Given the description of an element on the screen output the (x, y) to click on. 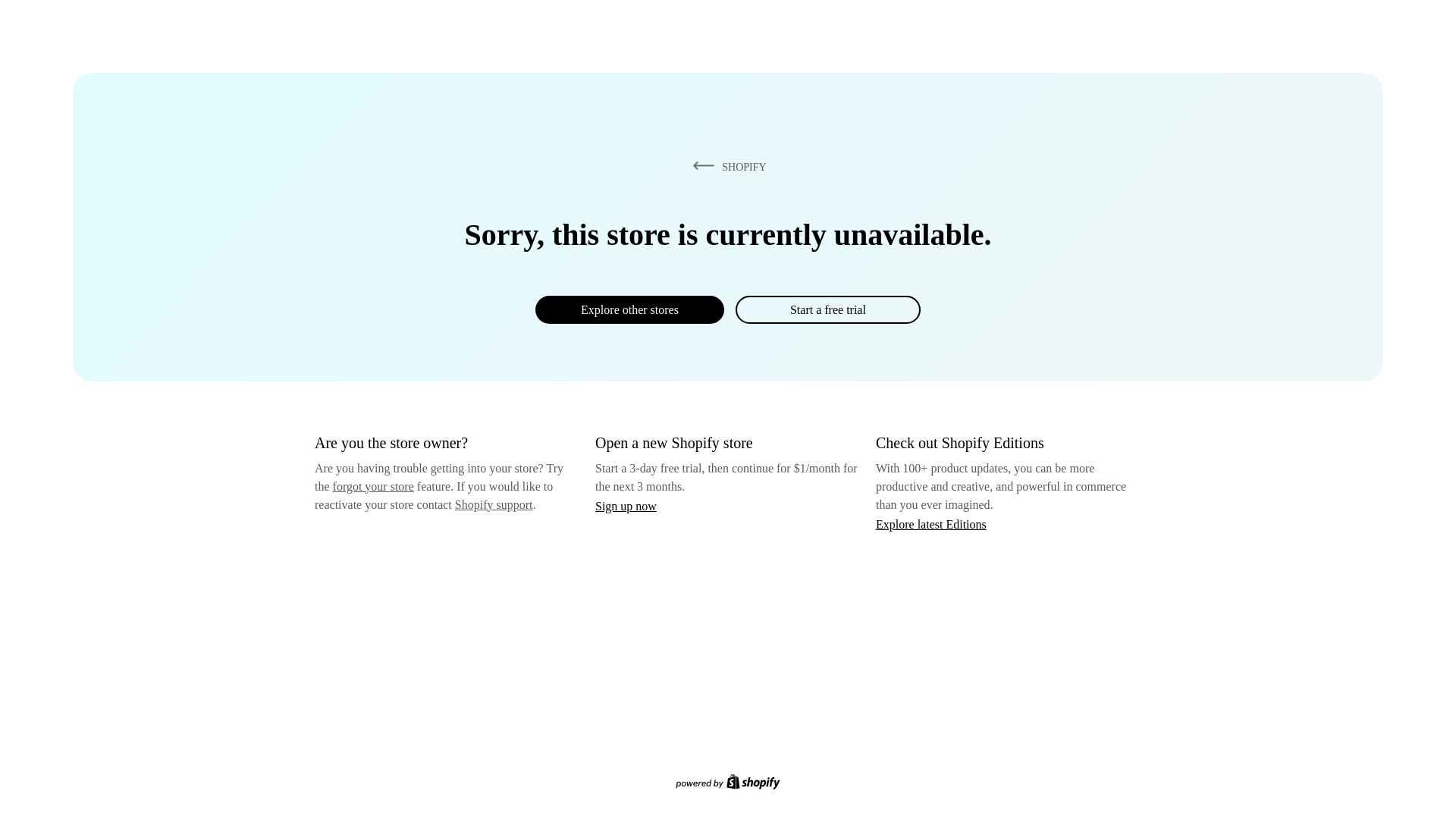
Start a free trial (827, 309)
Explore other stores (629, 309)
Shopify support (493, 504)
Explore latest Editions (931, 523)
SHOPIFY (726, 166)
Sign up now (625, 505)
forgot your store (373, 486)
